Given the description of an element on the screen output the (x, y) to click on. 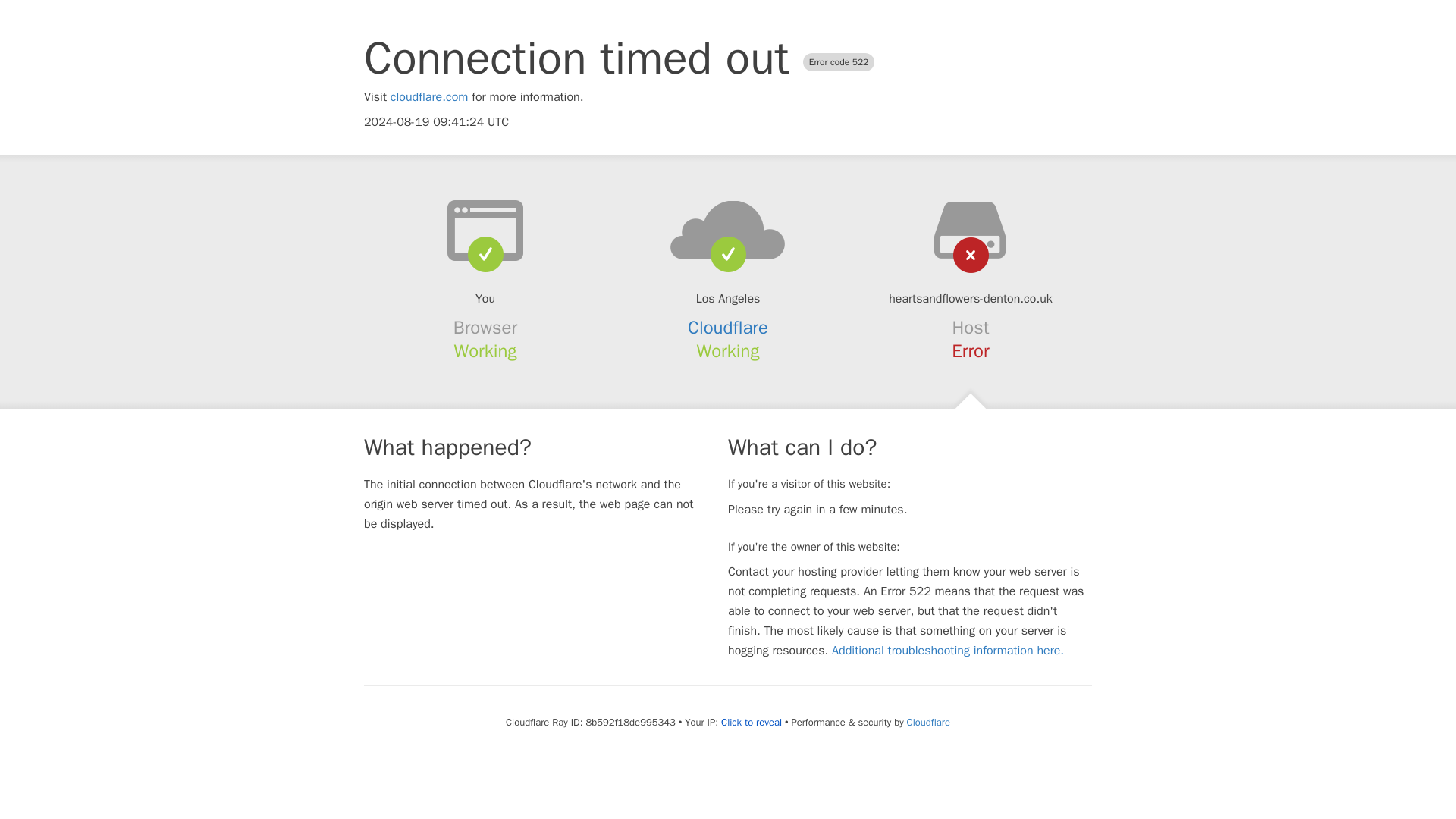
Click to reveal (750, 722)
Cloudflare (727, 327)
Additional troubleshooting information here. (947, 650)
Cloudflare (928, 721)
cloudflare.com (429, 96)
